Given the description of an element on the screen output the (x, y) to click on. 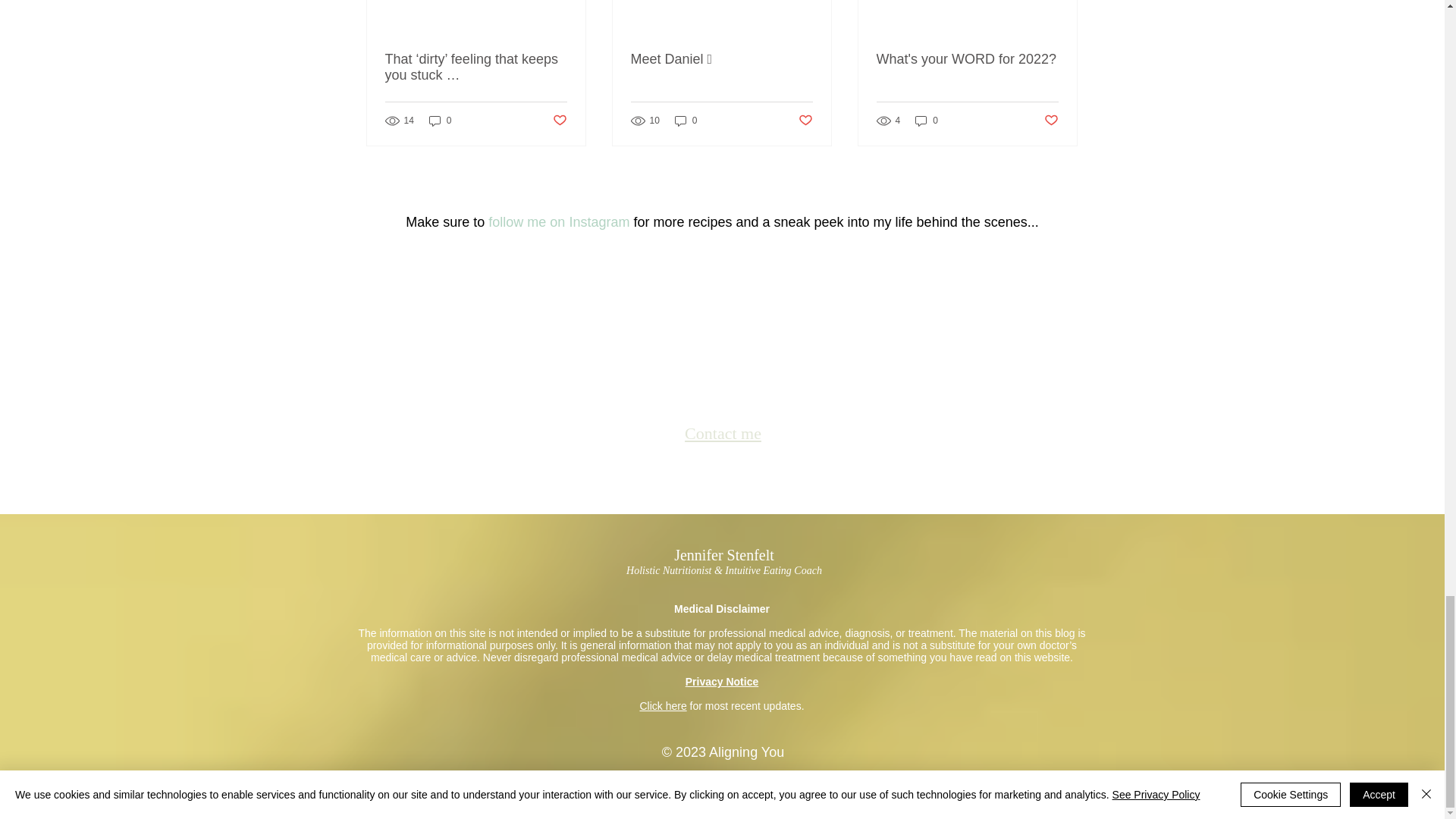
follow me on Instagram (557, 222)
 Jennifer Stenfelt  (723, 555)
0 (440, 120)
0 (926, 120)
0 (685, 120)
Post not marked as liked (1050, 120)
Post not marked as liked (558, 120)
Contact me (722, 433)
Post not marked as liked (804, 120)
What's your WORD for 2022? (967, 59)
